Given the description of an element on the screen output the (x, y) to click on. 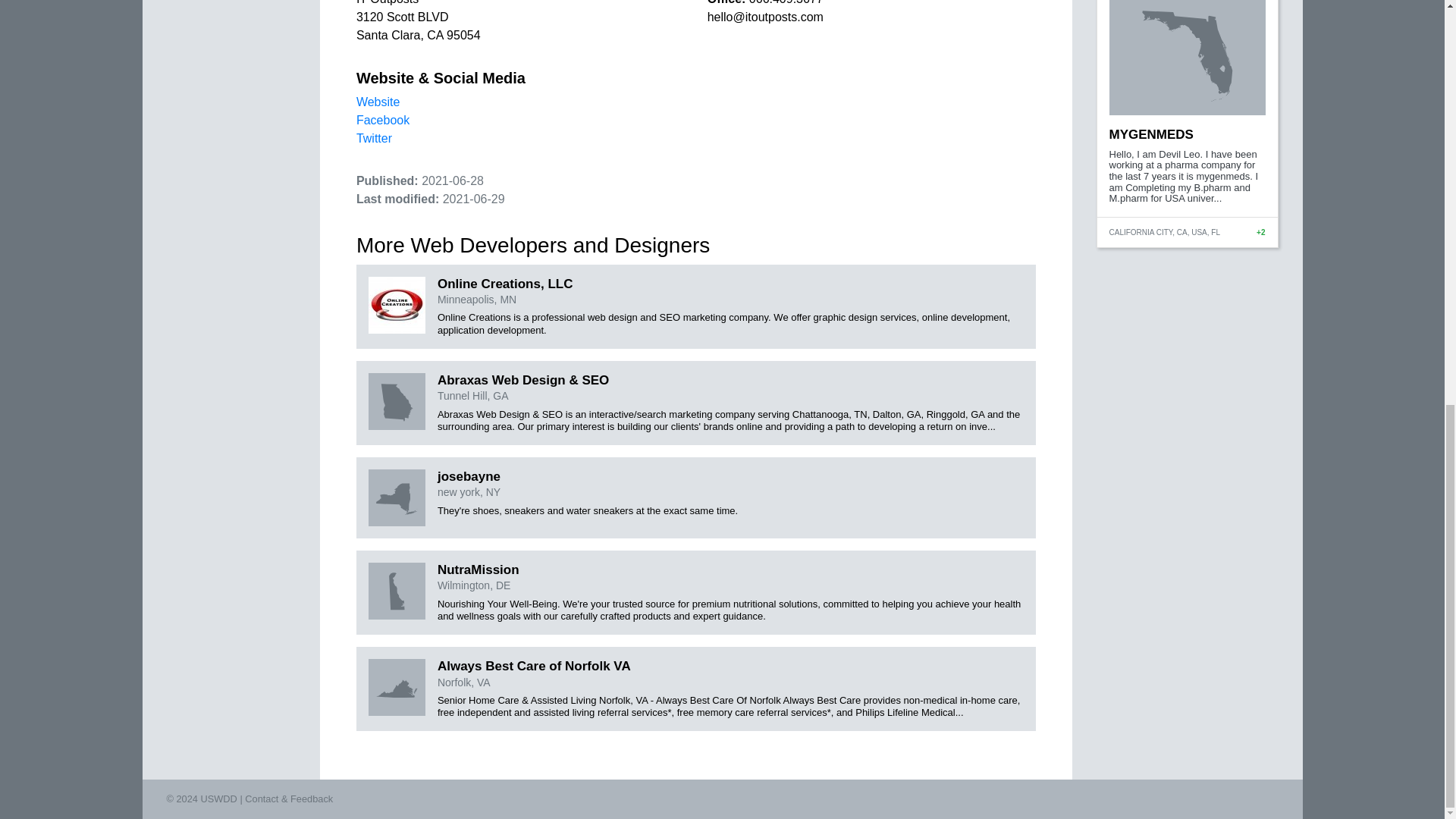
066.409.3677 (786, 2)
josebayne (469, 476)
NutraMission (478, 569)
Facebook (382, 119)
Online Creations, LLC (505, 283)
Website (378, 101)
Twitter (373, 137)
